Given the description of an element on the screen output the (x, y) to click on. 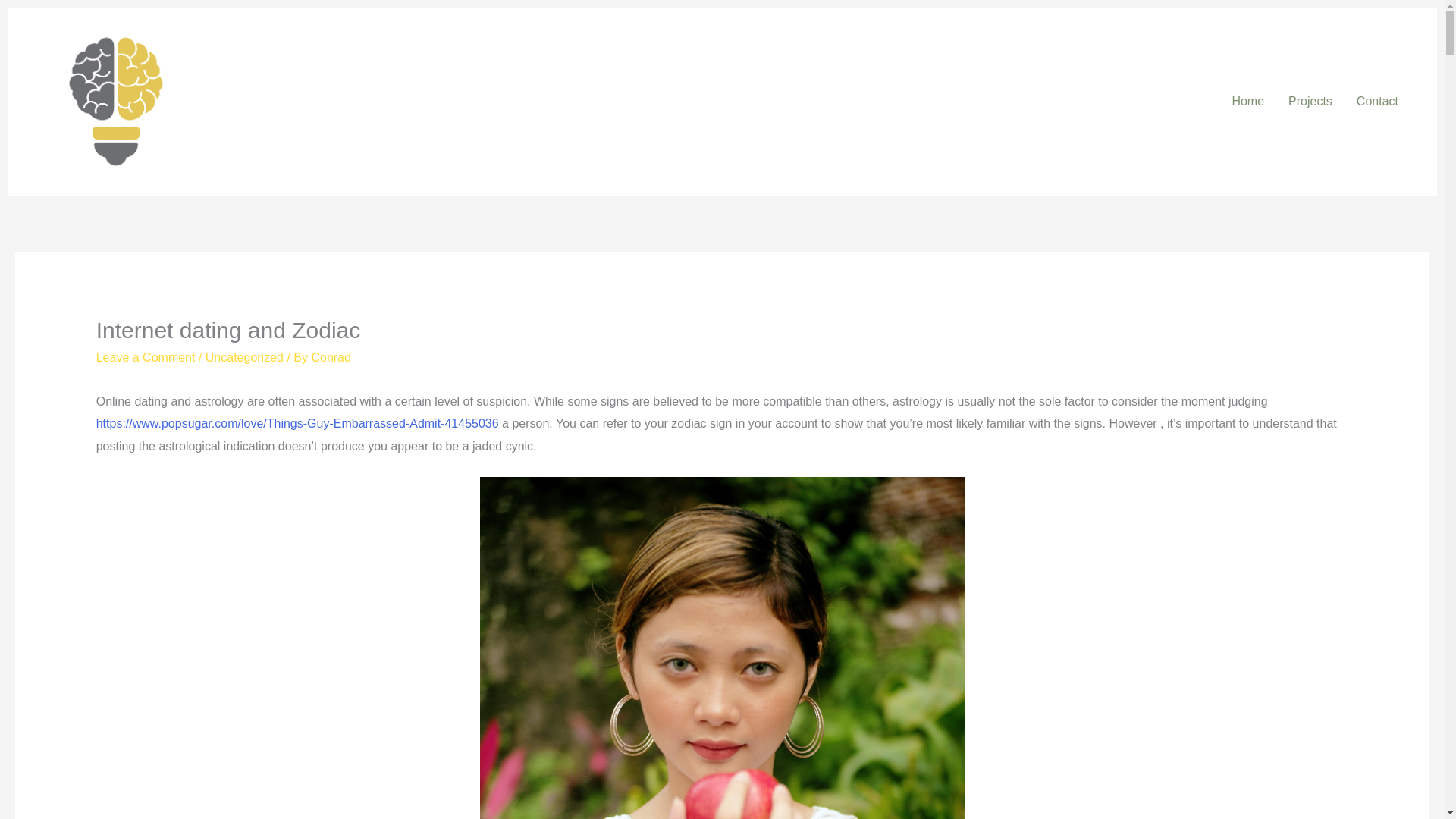
Uncategorized (244, 357)
Contact (1376, 101)
Home (1248, 101)
Leave a Comment (145, 357)
Conrad (330, 357)
View all posts by Conrad (330, 357)
Projects (1309, 101)
